Given the description of an element on the screen output the (x, y) to click on. 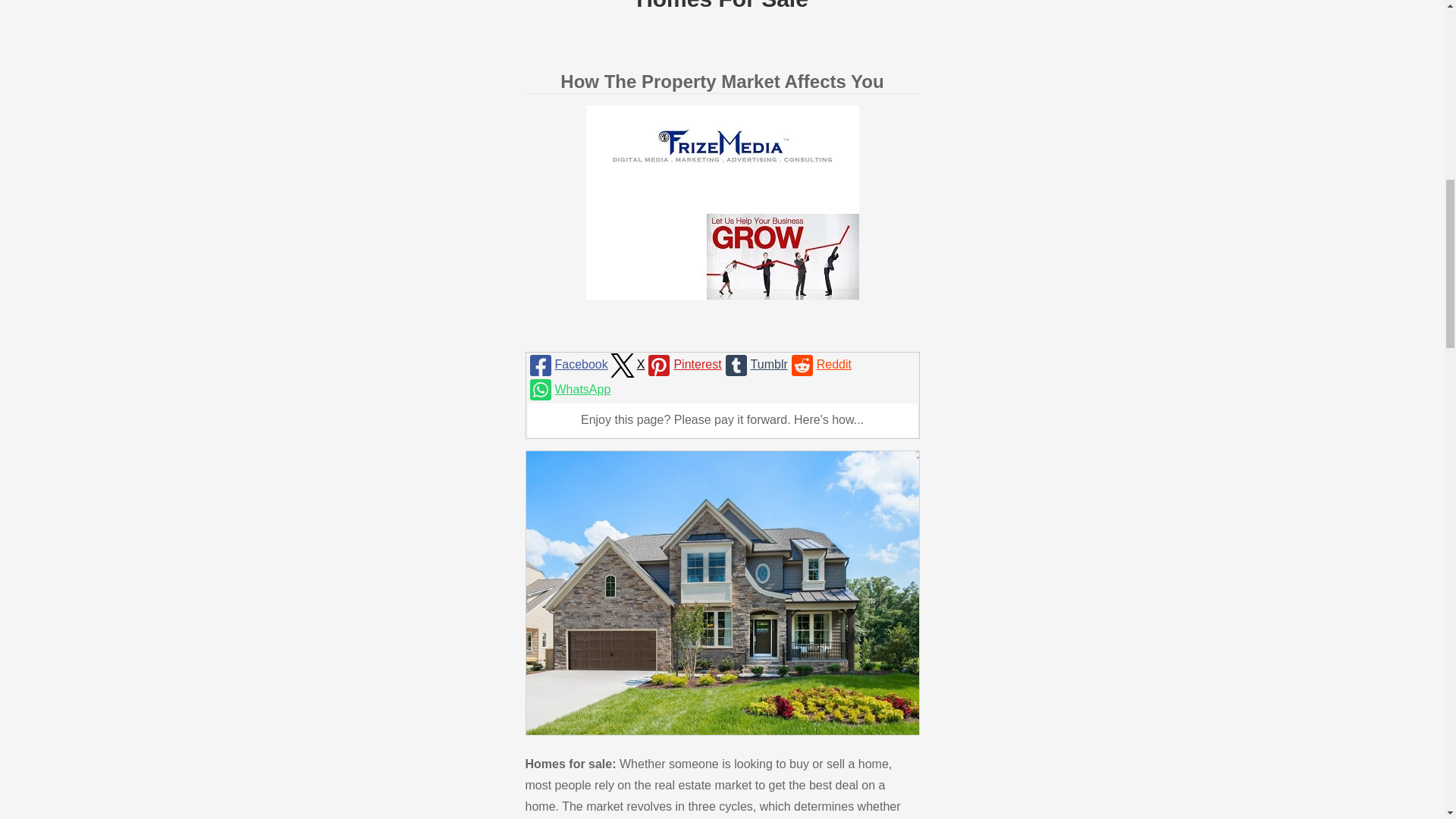
Pinterest (682, 364)
Reddit (819, 364)
Advertise With FrizeMedia - Let Us Help Your Business Grow (722, 202)
WhatsApp (568, 389)
Facebook (566, 364)
Tumblr (754, 364)
X (626, 364)
